Given the description of an element on the screen output the (x, y) to click on. 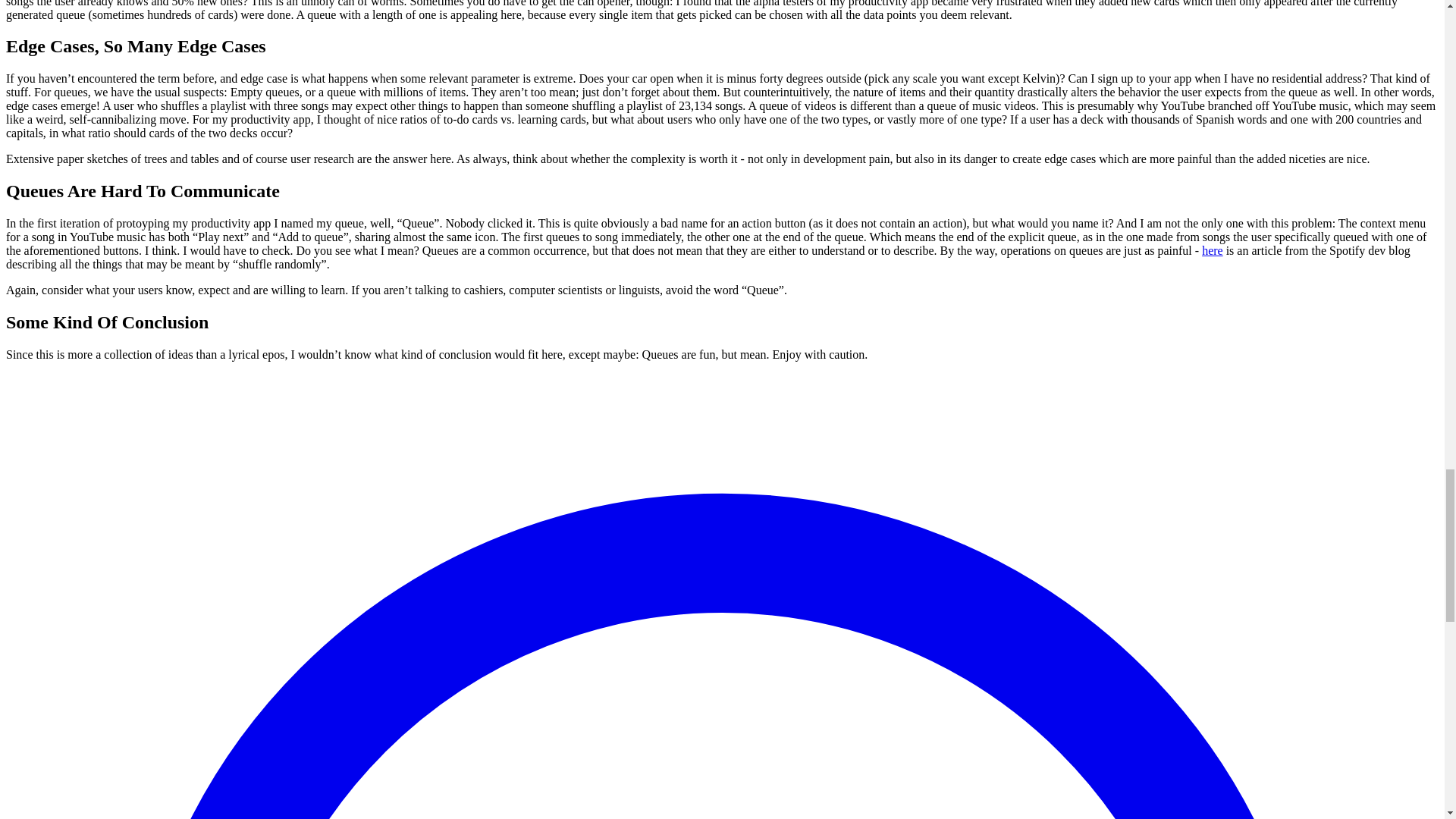
here (1212, 250)
